Given the description of an element on the screen output the (x, y) to click on. 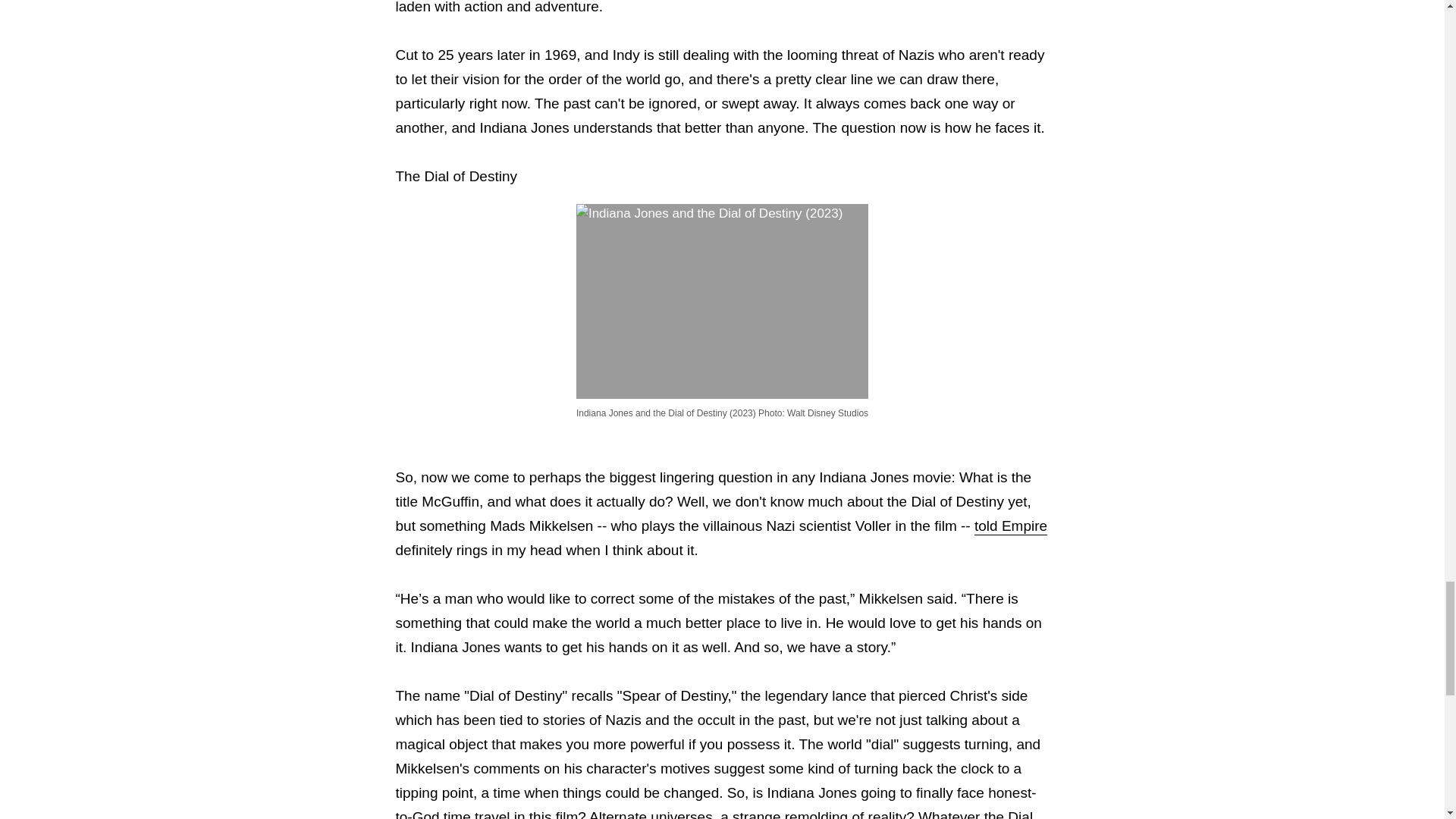
told Empire (1010, 525)
